Given the description of an element on the screen output the (x, y) to click on. 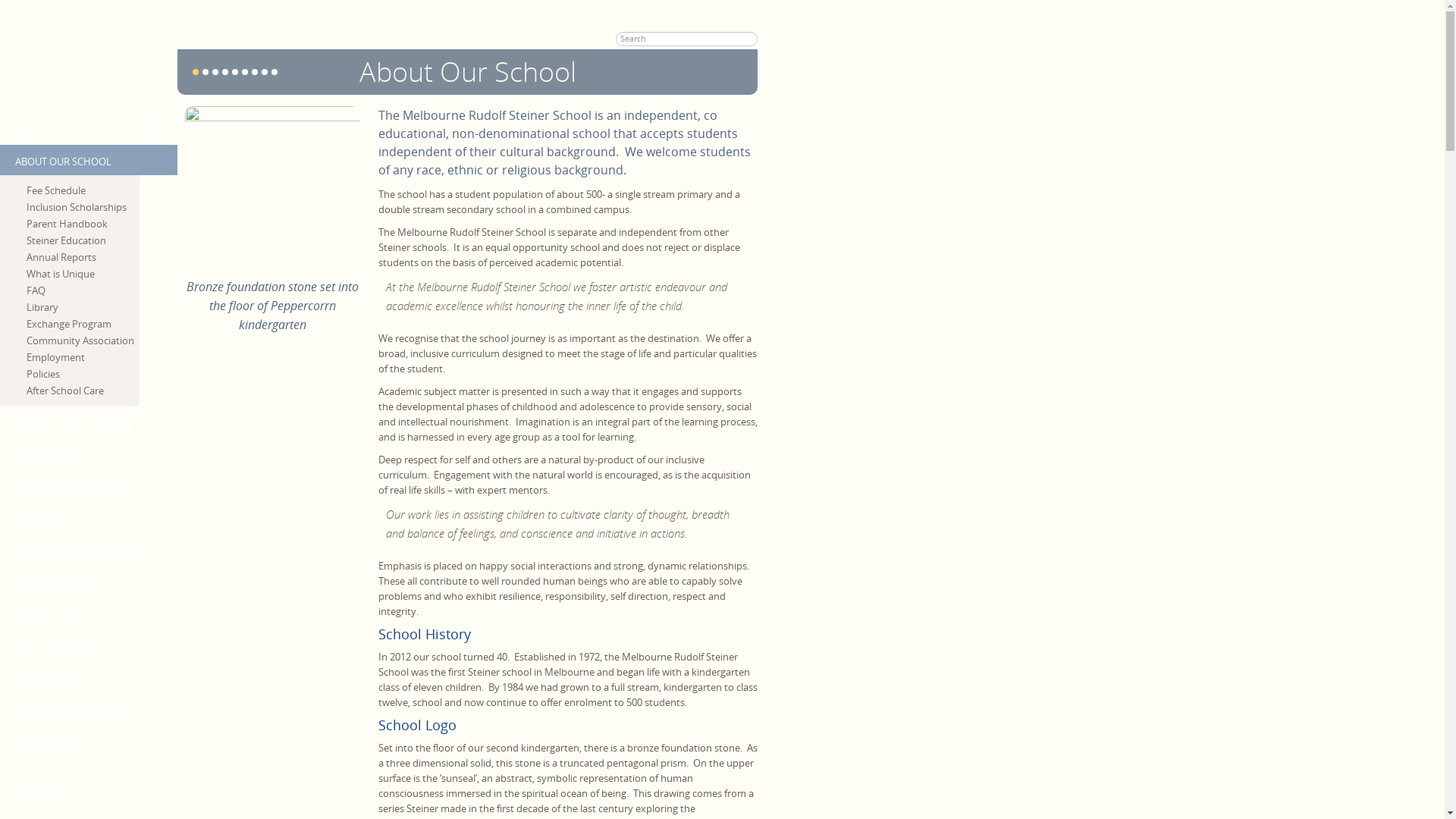
Search Element type: text (19, 8)
Employment Element type: text (82, 356)
What is Unique Element type: text (82, 273)
HOME Element type: text (83, 116)
About Our School Element type: text (467, 71)
Steiner Education Element type: text (82, 239)
CURRICULUM Element type: text (83, 455)
EMERGENCY INFO Element type: text (83, 586)
ALUMNI Element type: text (83, 520)
Skip to primary content Element type: text (53, 7)
Community Association Element type: text (82, 340)
ABOUT OUR SCHOOL Element type: text (88, 159)
Library Element type: text (82, 306)
OPEN DAY AND FAIR 2023 Element type: text (83, 422)
Parent Handbook Element type: text (82, 223)
MRSS STUDENT CAREERS Element type: text (83, 716)
Annual Reports Element type: text (82, 256)
CALENDAR OF EVENTS Element type: text (83, 488)
Policies Element type: text (82, 373)
After School Care Element type: text (82, 390)
CONTACT US Element type: text (83, 749)
Inclusion Scholarships Element type: text (82, 206)
Skip to secondary content Element type: text (59, 7)
Fee Schedule Element type: text (82, 189)
Exchange Program Element type: text (82, 323)
DONATIONS AND BEQUESTS Element type: text (83, 553)
USEFUL LINKS Element type: text (83, 618)
FAQ Element type: text (82, 290)
ENROLMENTS Element type: text (83, 683)
COVID SAFE PLAN Element type: text (83, 651)
